Given the description of an element on the screen output the (x, y) to click on. 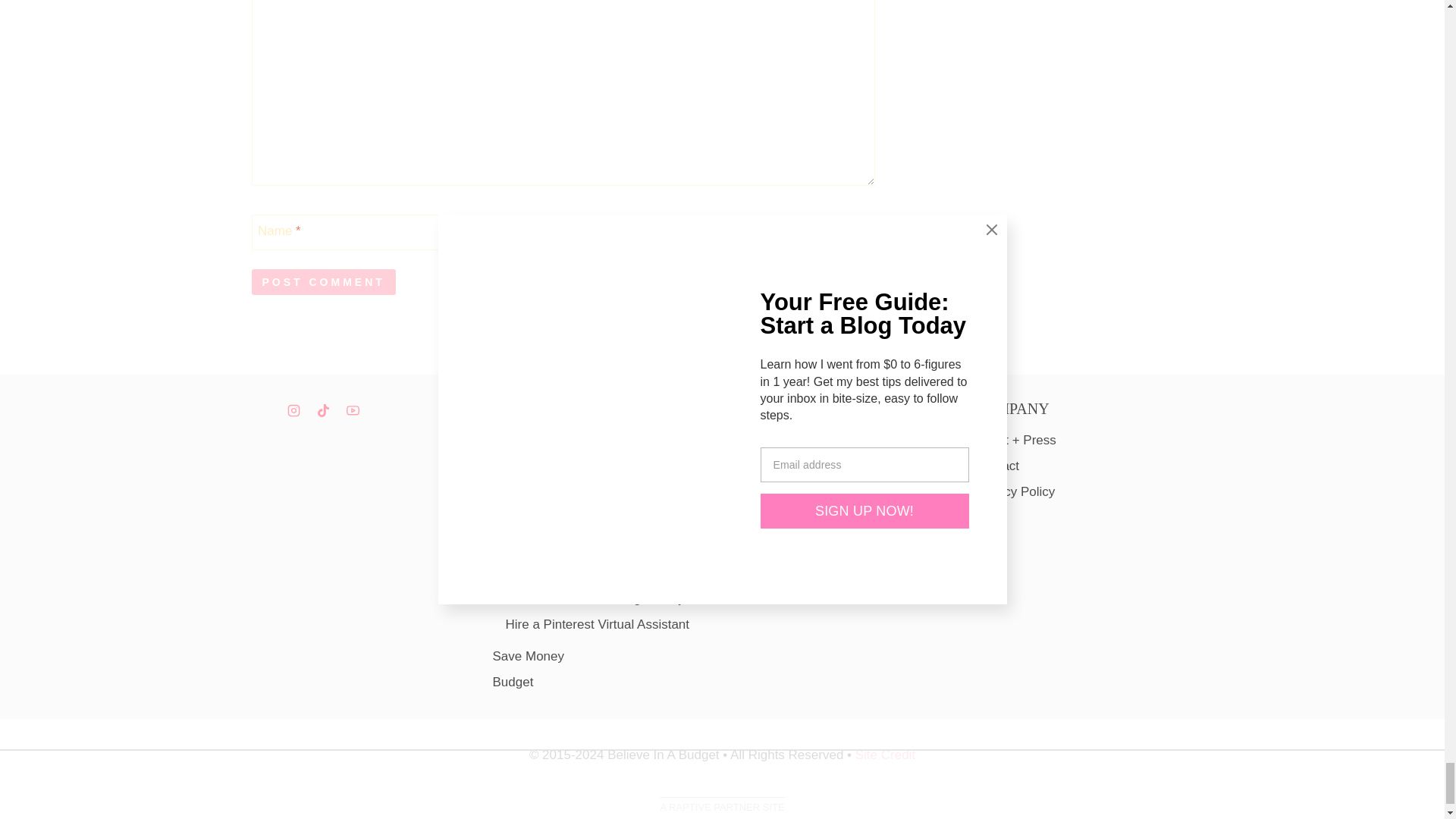
Post Comment (323, 281)
